Given the description of an element on the screen output the (x, y) to click on. 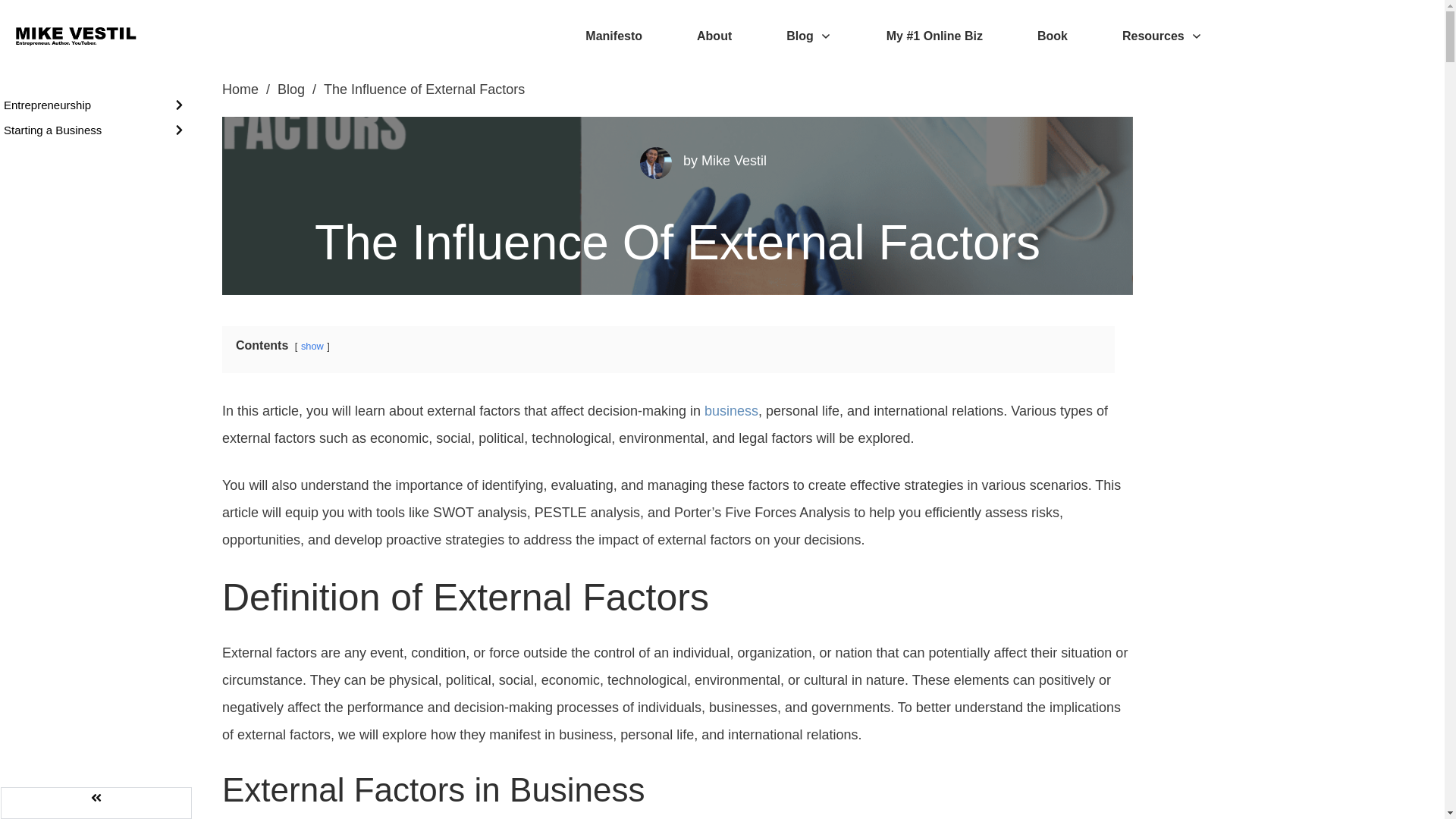
mike-vestil-blog (655, 163)
Blog (808, 36)
Book (1051, 36)
Manifesto (613, 36)
Resources (1162, 36)
About (714, 36)
